Given the description of an element on the screen output the (x, y) to click on. 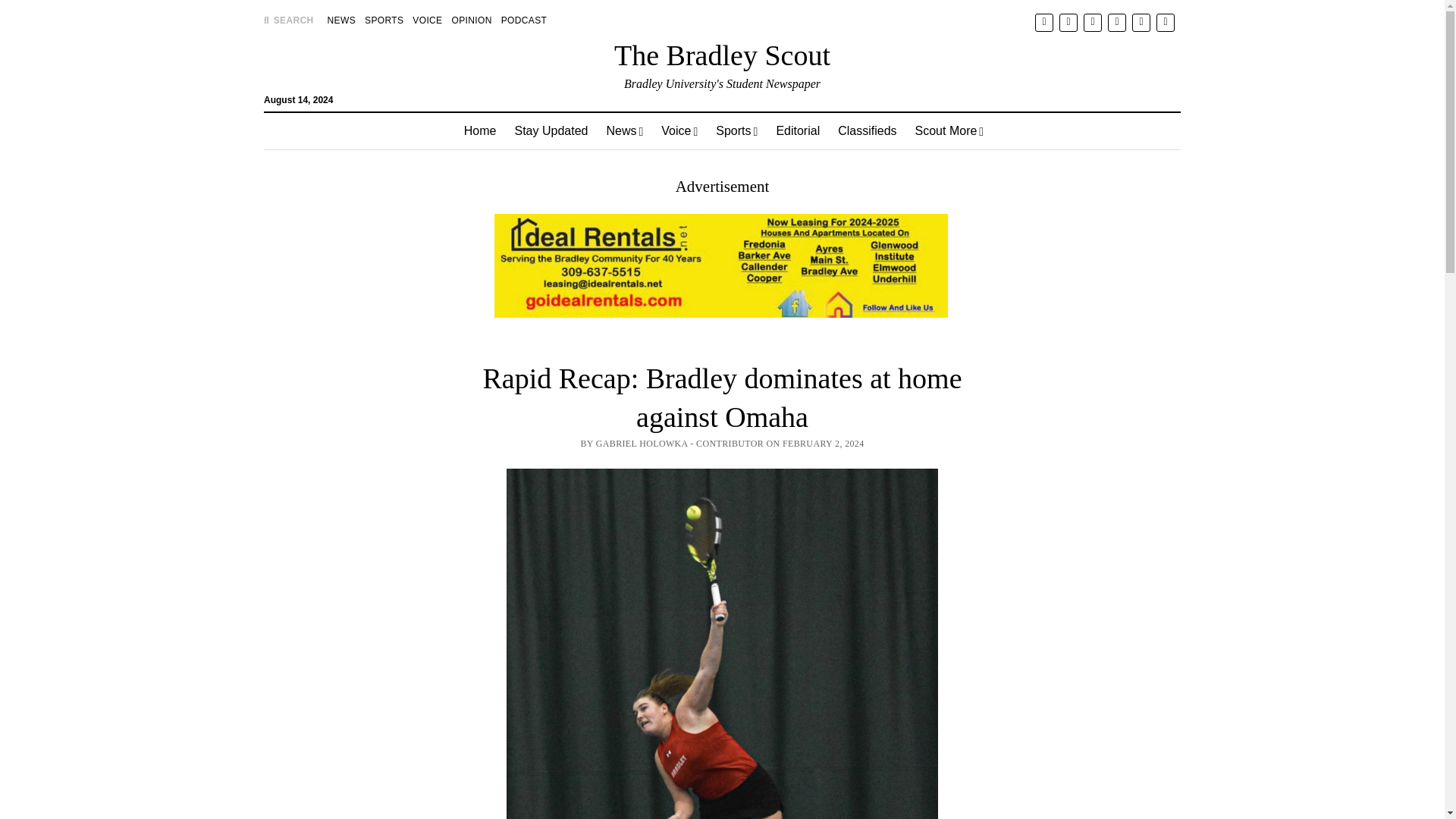
Search (945, 129)
Stay Updated (550, 131)
OPINION (471, 20)
Home (479, 131)
Scout More (948, 131)
News (624, 131)
The Bradley Scout (721, 55)
VOICE (427, 20)
PODCAST (523, 20)
Editorial (797, 131)
